Given the description of an element on the screen output the (x, y) to click on. 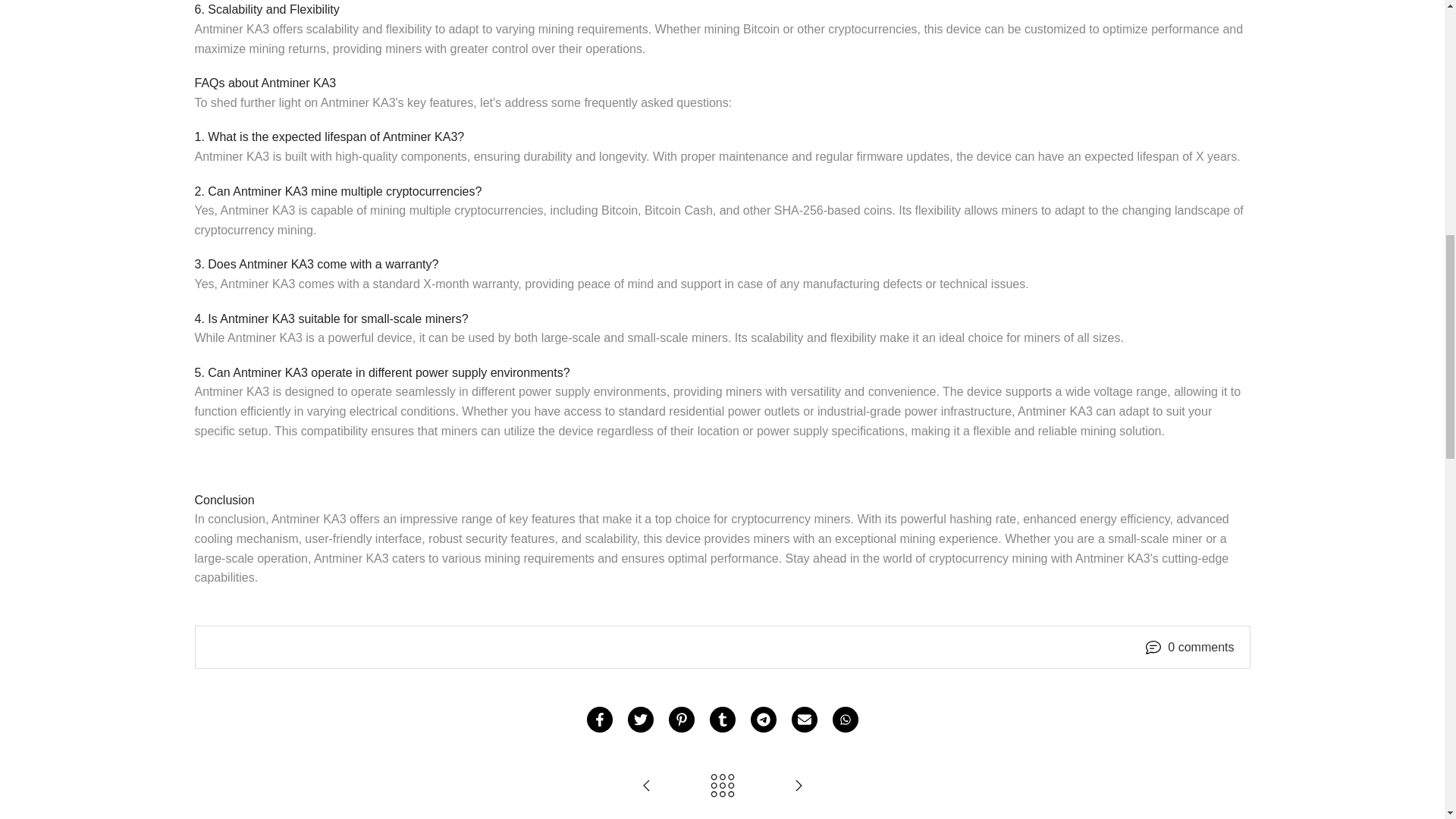
Share on Facebook (599, 719)
How easy is it to set up and use Antminer KA3? (646, 786)
Share on Pinterest (681, 719)
Share on Telegram (763, 719)
Share on Email (804, 719)
Share on WhatsApp (845, 719)
0 comments (1200, 647)
Share on Twitter (640, 719)
Share on Tumblr (722, 719)
Back to Articles (722, 786)
